Given the description of an element on the screen output the (x, y) to click on. 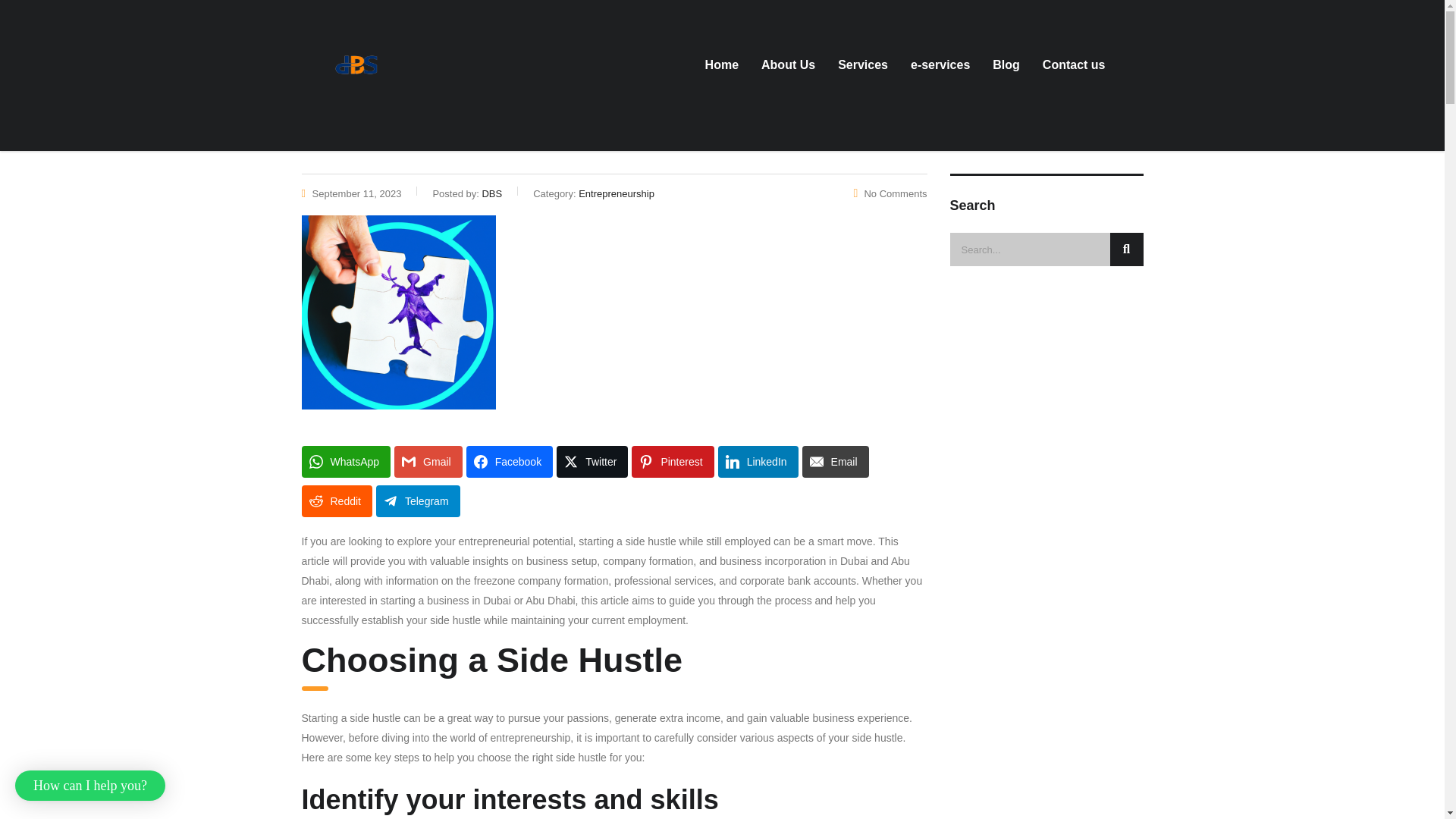
Email (835, 461)
Share on Gmail (428, 461)
Blog (1005, 64)
Telegram (417, 500)
Share on WhatsApp (346, 461)
LinkedIn (757, 461)
Pinterest (672, 461)
Twitter (591, 461)
Share on Twitter (591, 461)
Services (863, 64)
WhatsApp (346, 461)
Gmail (428, 461)
Share on Telegram (417, 500)
Share on Reddit (336, 500)
Reddit (336, 500)
